Given the description of an element on the screen output the (x, y) to click on. 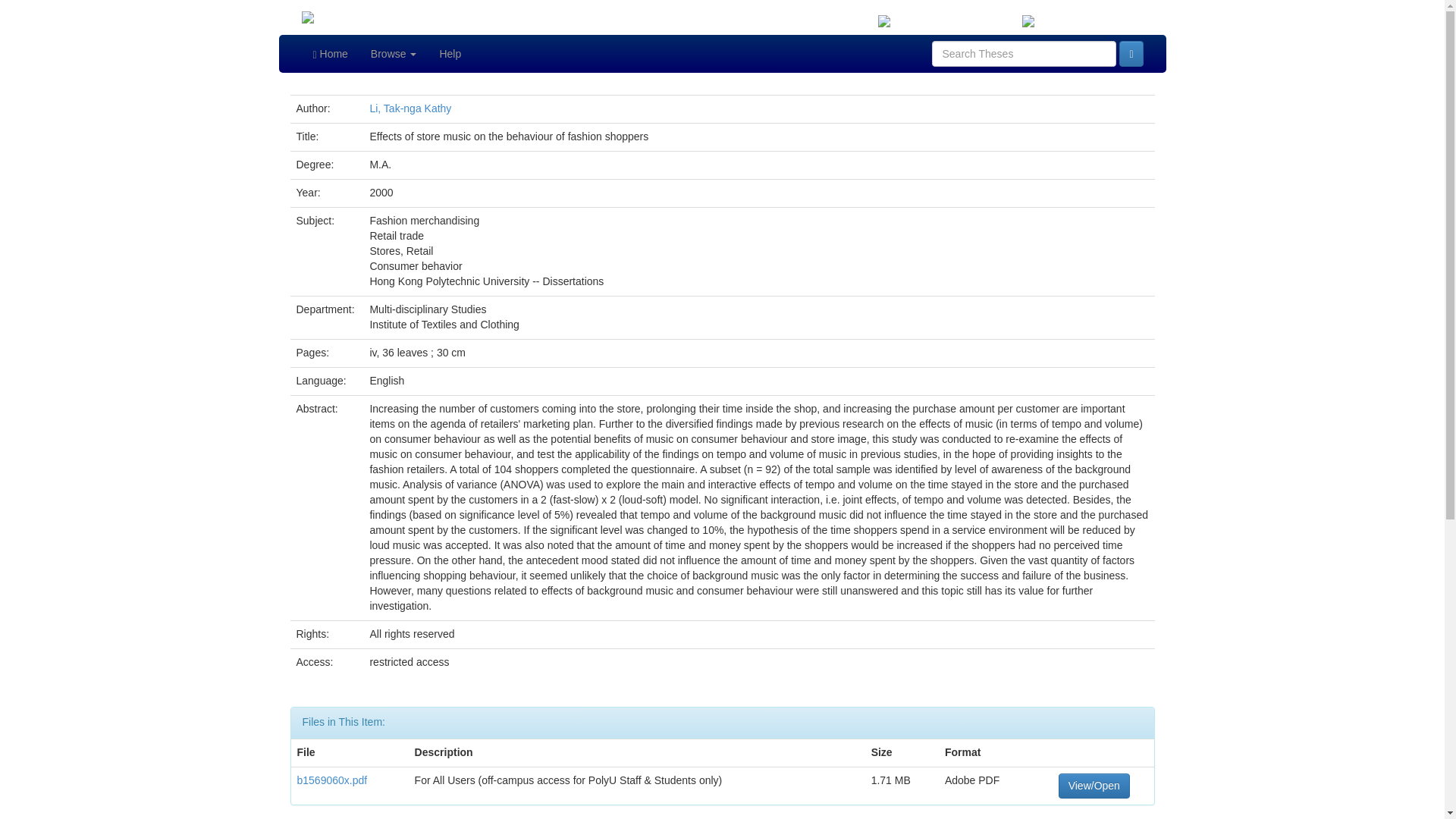
b1569060x.pdf (332, 779)
Li, Tak-nga Kathy (410, 108)
Browse (393, 53)
Home (330, 53)
Help (449, 53)
